Given the description of an element on the screen output the (x, y) to click on. 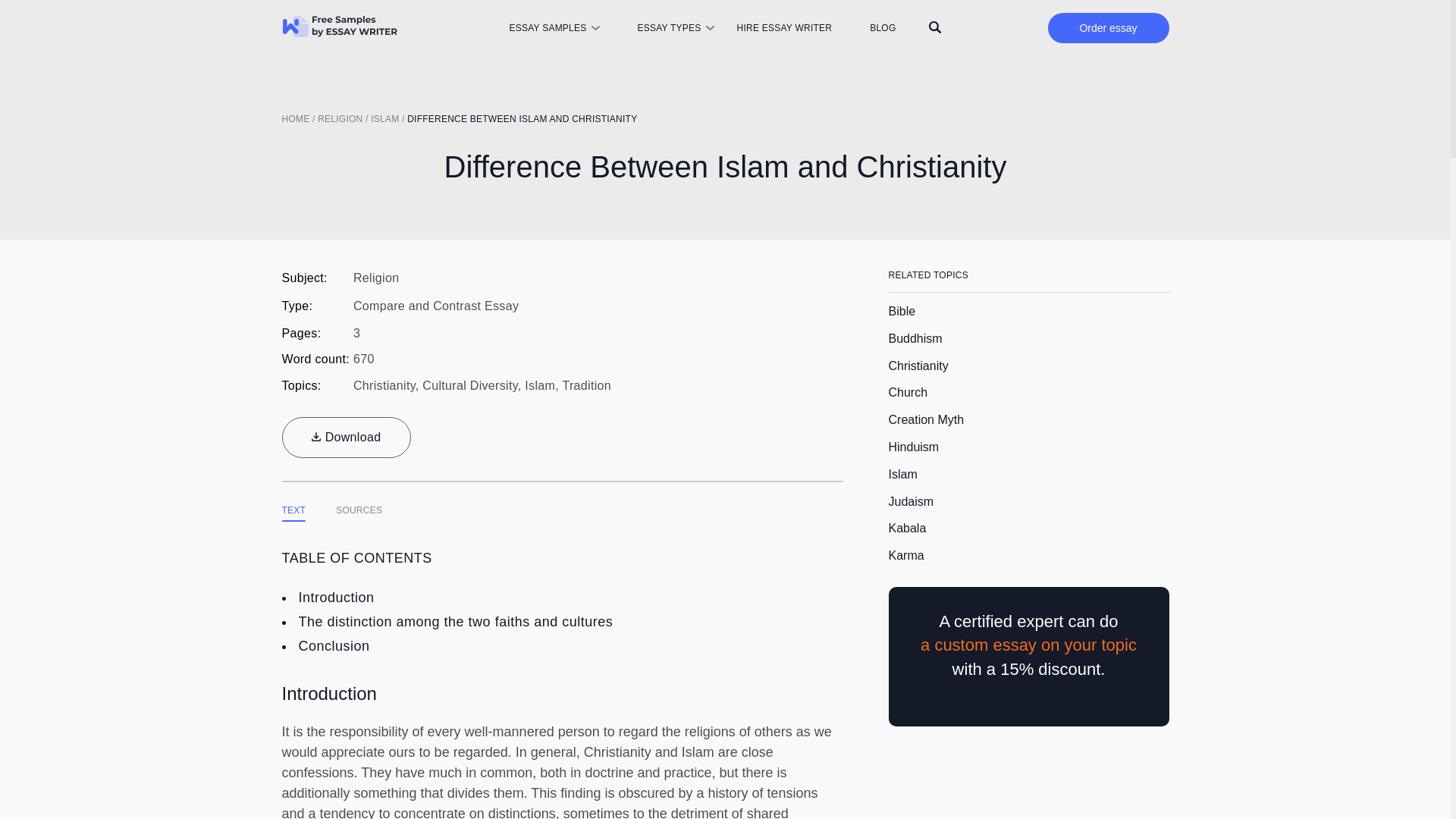
ESSAY SAMPLES (545, 28)
Conclusion (333, 645)
The distinction among the two faiths and cultures (455, 621)
ESSAY TYPES (668, 28)
Introduction (336, 597)
